Given the description of an element on the screen output the (x, y) to click on. 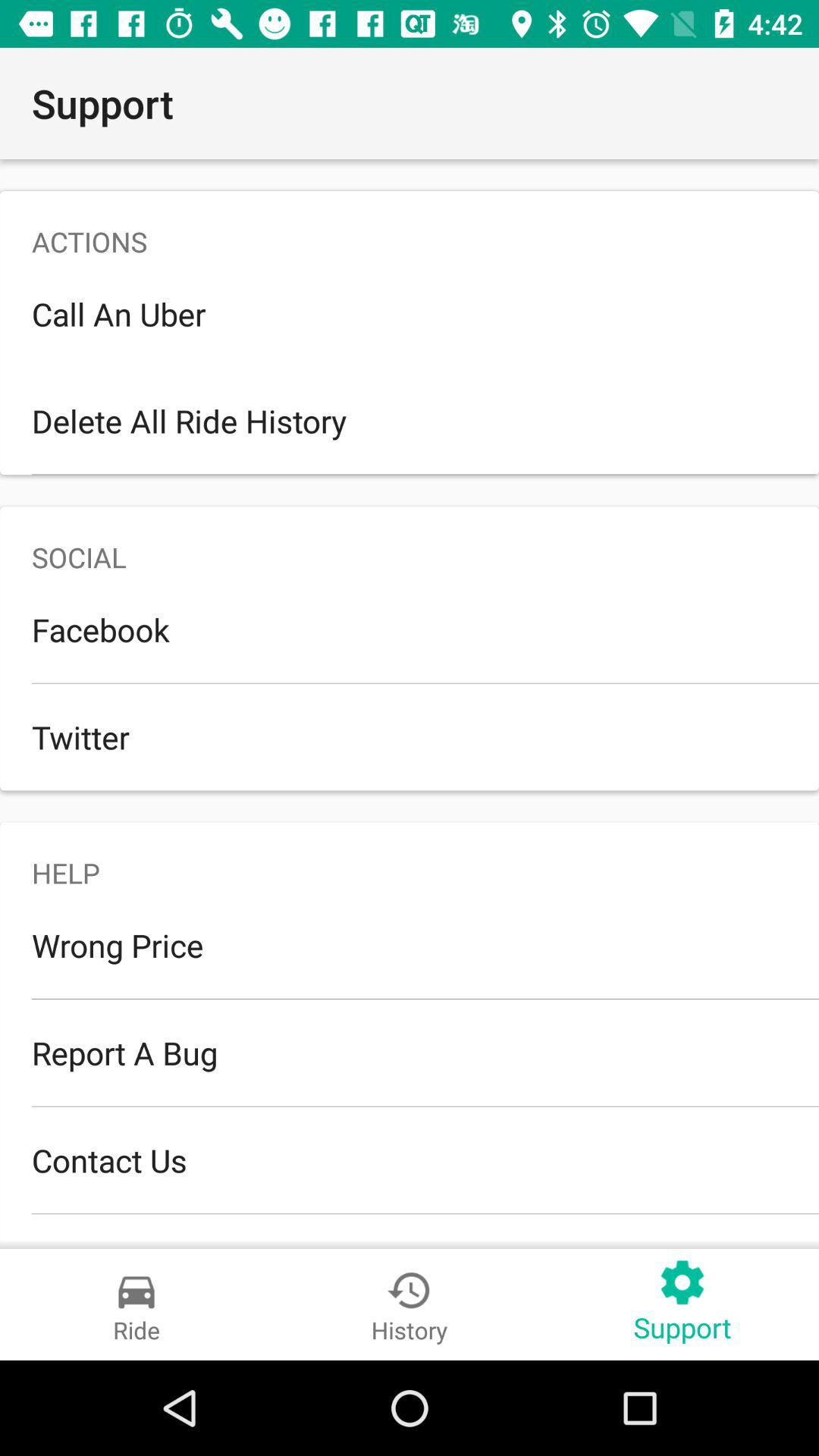
select the call an uber (409, 313)
